Given the description of an element on the screen output the (x, y) to click on. 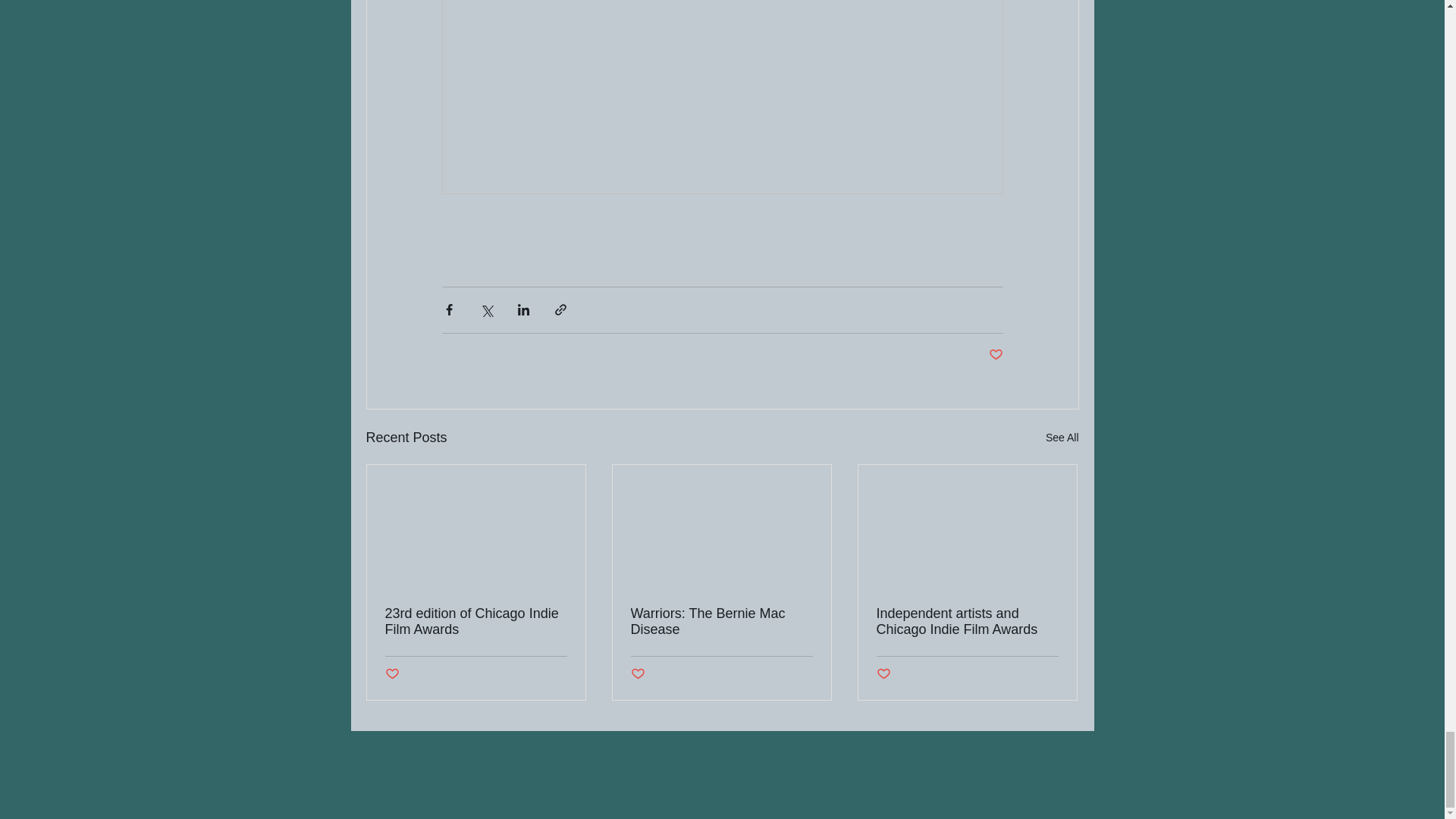
Post not marked as liked (995, 355)
Independent artists and Chicago Indie Film Awards (967, 622)
Post not marked as liked (883, 674)
Post not marked as liked (637, 674)
Post not marked as liked (391, 674)
See All (1061, 437)
23rd edition of Chicago Indie Film Awards (476, 622)
Warriors: The Bernie Mac Disease (721, 622)
